Given the description of an element on the screen output the (x, y) to click on. 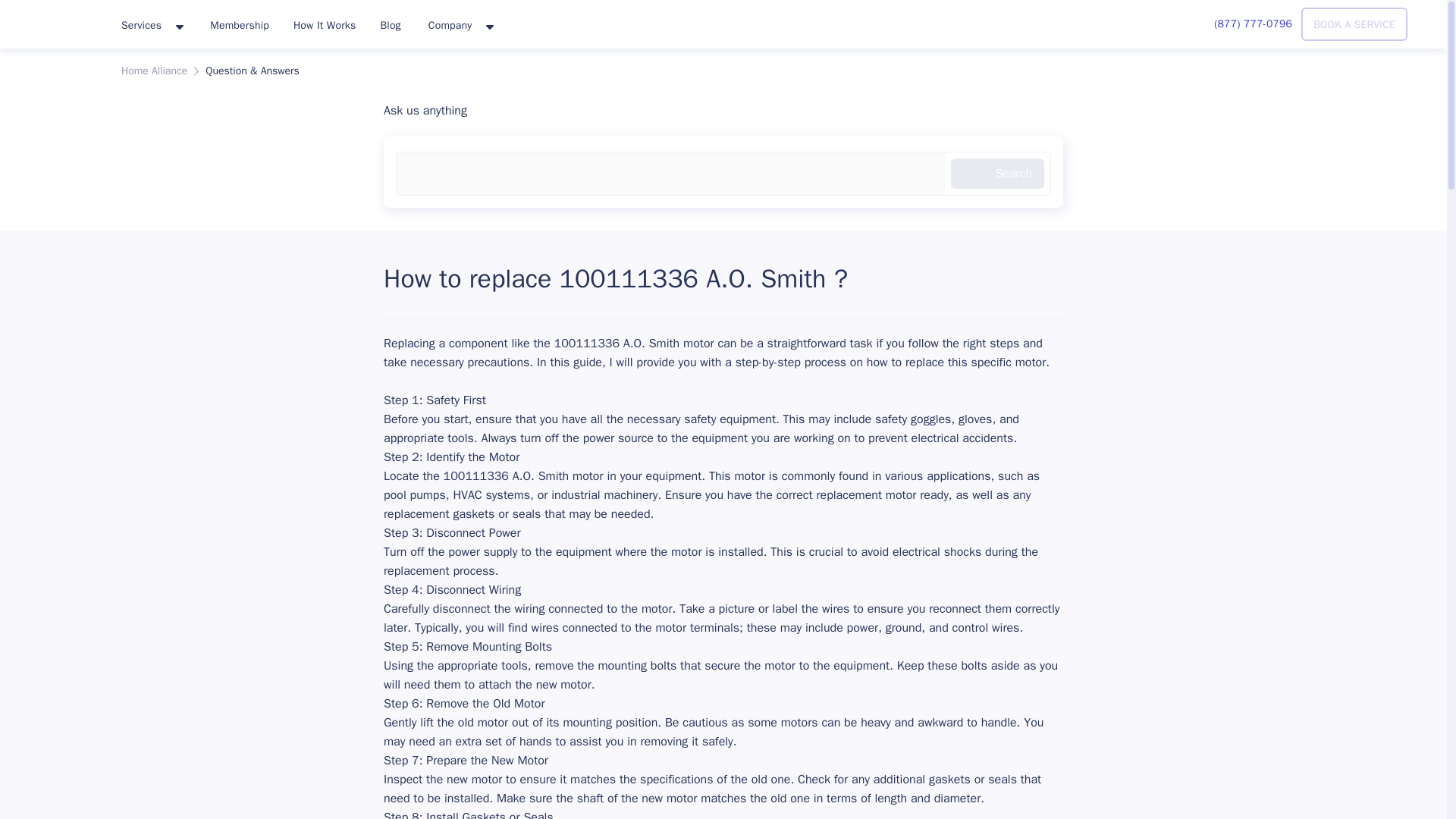
BOOK A SERVICE (1354, 23)
Services (151, 25)
How It Works (324, 24)
Home Alliance (153, 70)
Company (460, 25)
Search (996, 173)
Membership (239, 24)
HomeAlliance (55, 20)
